Given the description of an element on the screen output the (x, y) to click on. 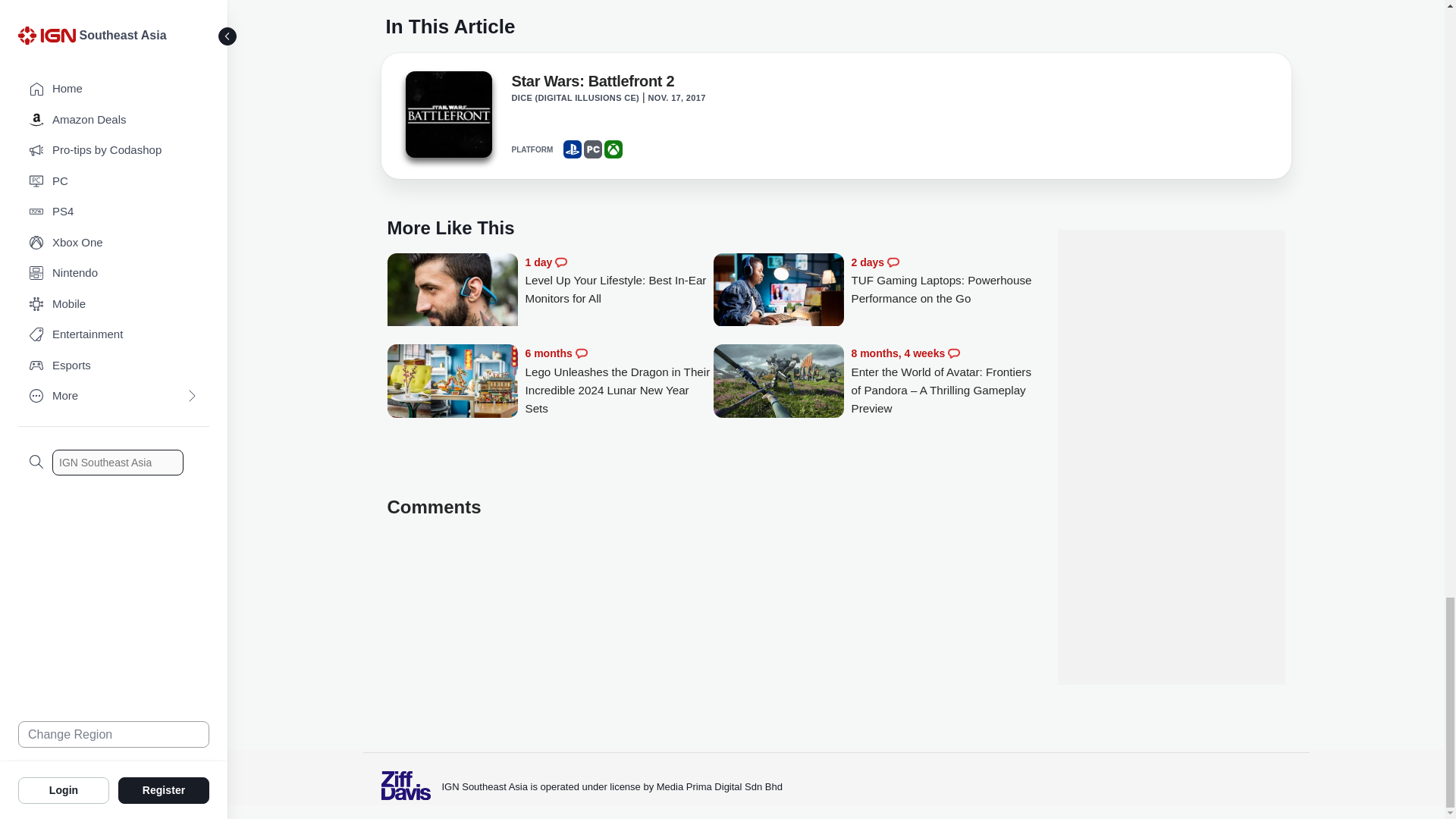
PC (592, 149)
Star Wars: Battlefront 2 (448, 114)
Star Wars: Battlefront 2 (448, 119)
Star Wars: Battlefront 2 (592, 83)
PS4 (571, 149)
Level Up Your Lifestyle: Best In-Ear Monitors for All (618, 280)
Level Up Your Lifestyle: Best In-Ear Monitors for All (451, 298)
XBOXONE (613, 149)
TUF Gaming Laptops: Powerhouse Performance on the Go (944, 280)
TUF Gaming Laptops: Powerhouse Performance on the Go (778, 291)
